Given the description of an element on the screen output the (x, y) to click on. 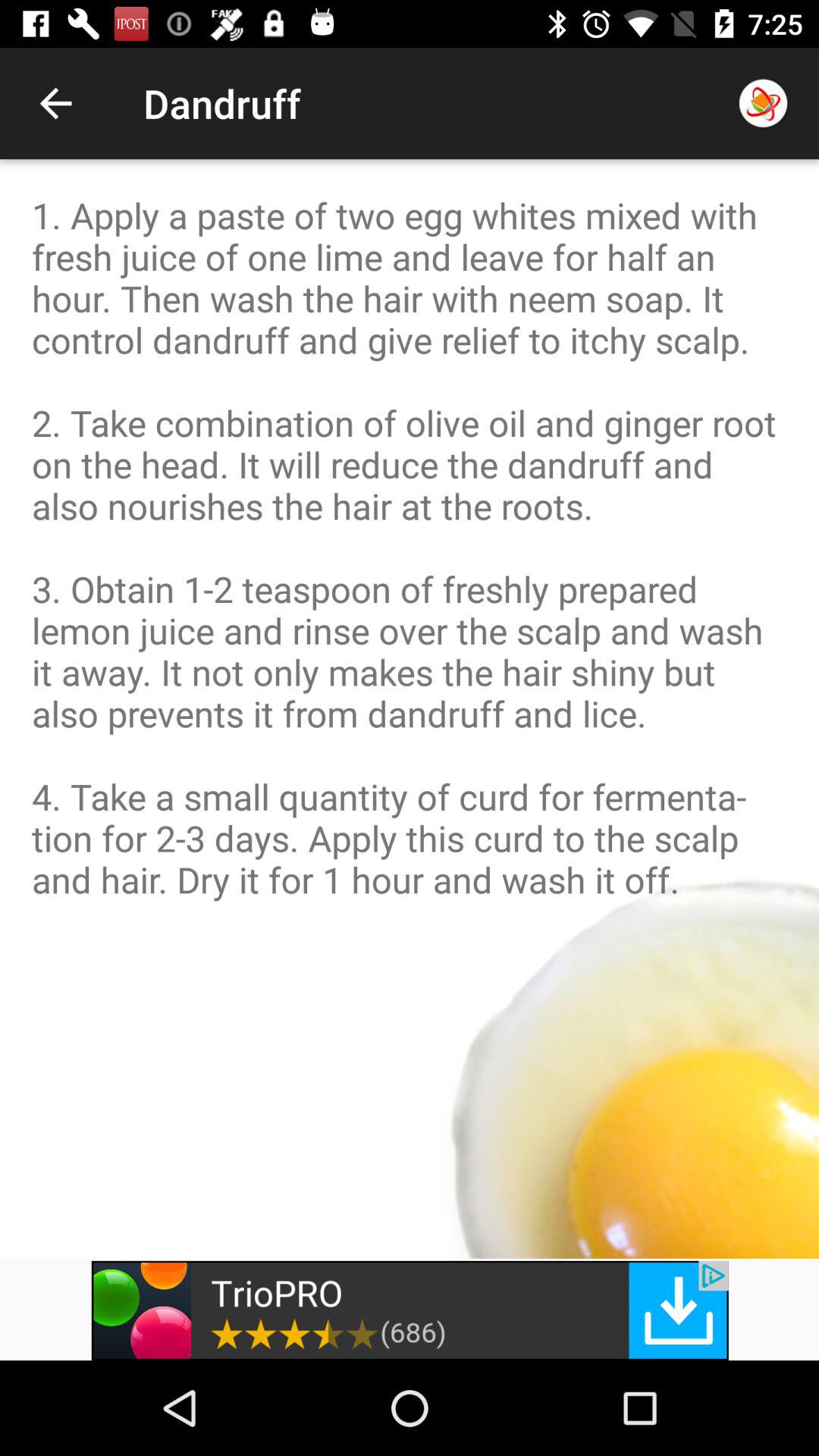
advertisement banner (409, 1310)
